Given the description of an element on the screen output the (x, y) to click on. 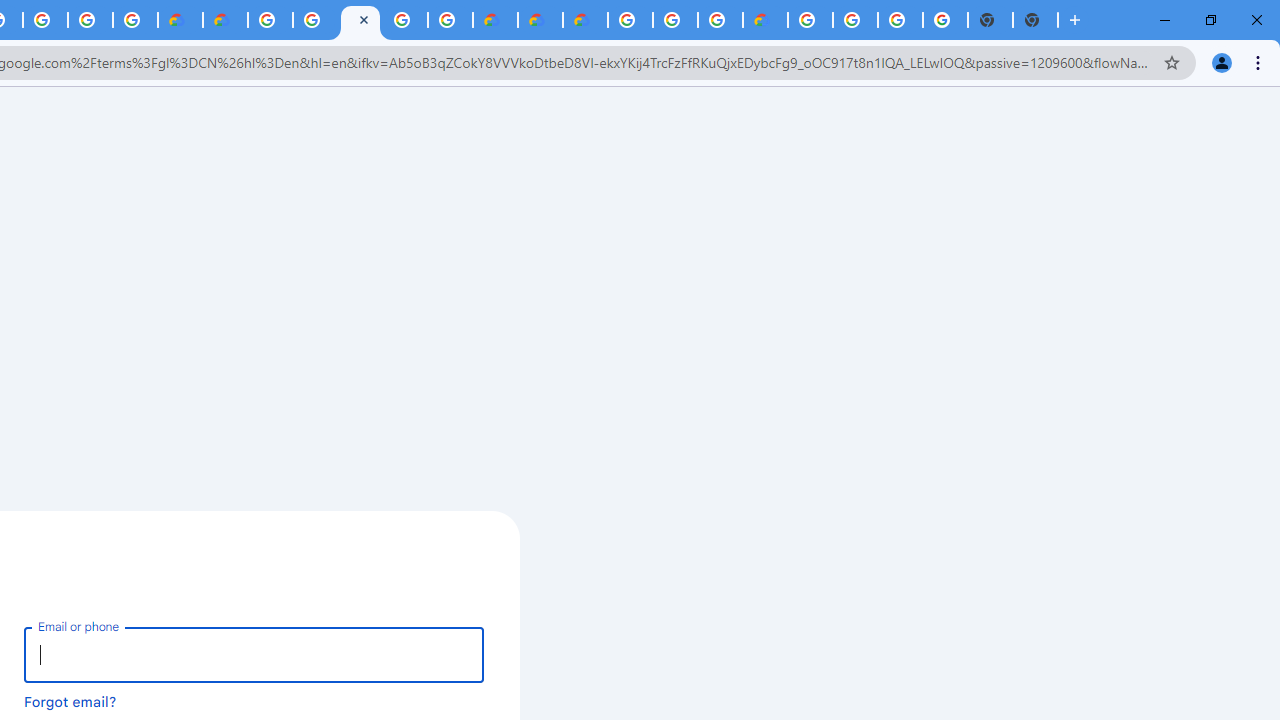
Google Cloud Platform (270, 20)
Email or phone (253, 654)
Browse Chrome as a guest - Computer - Google Chrome Help (720, 20)
Sign in - Google Accounts (359, 20)
Google Cloud Service Health (765, 20)
Browse Chrome as a guest - Computer - Google Chrome Help (674, 20)
Forgot email? (70, 701)
Customer Care | Google Cloud (180, 20)
Google Cloud Platform (404, 20)
